Given the description of an element on the screen output the (x, y) to click on. 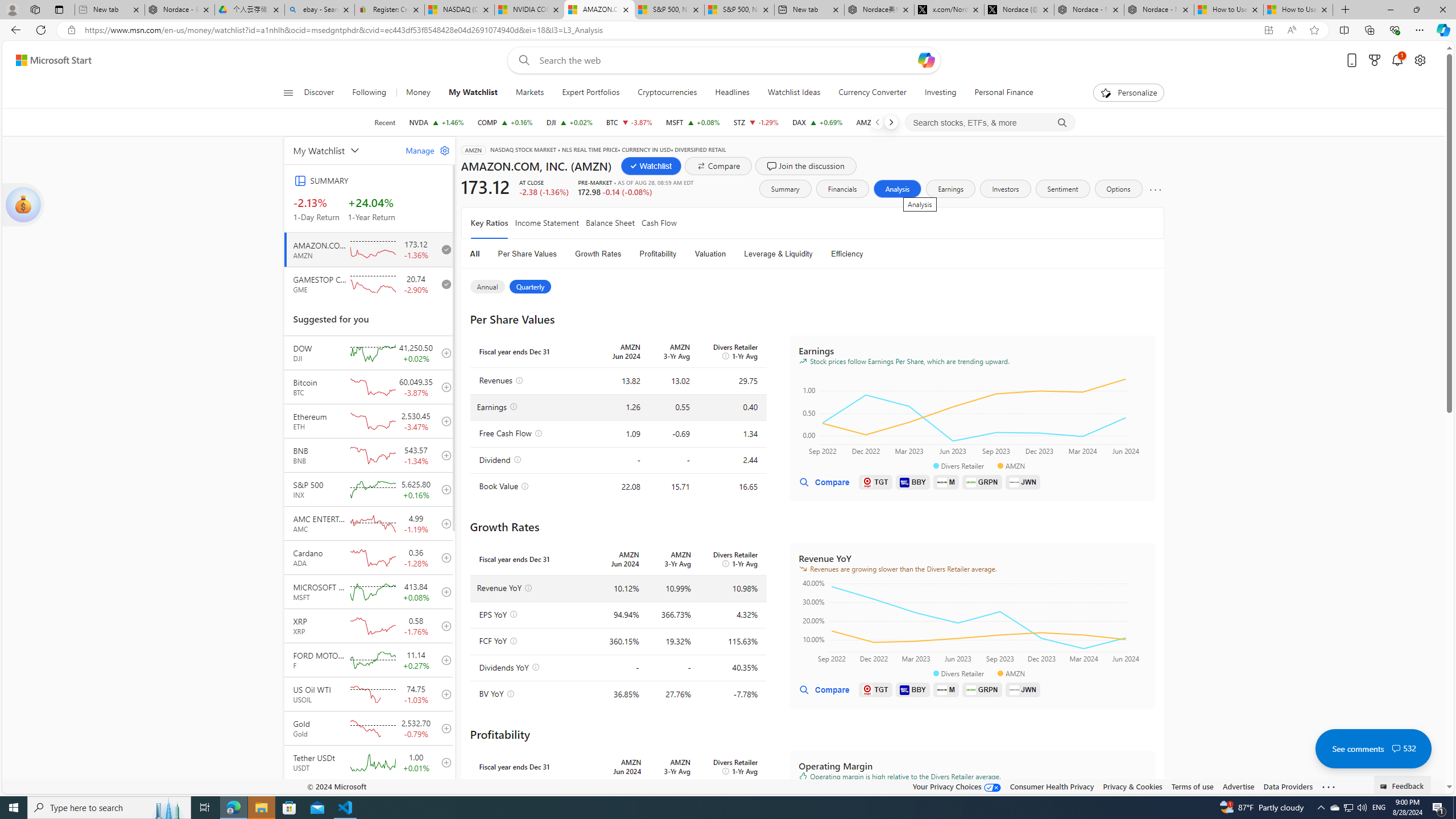
Money (417, 92)
All (474, 253)
Web search (520, 60)
show card (22, 204)
App bar (728, 29)
See comments 532 (1372, 748)
Privacy & Cookies (1131, 785)
TGT (874, 689)
Discover (323, 92)
Financials (842, 188)
Watchlist Ideas (794, 92)
Cryptocurrencies (667, 92)
